Given the description of an element on the screen output the (x, y) to click on. 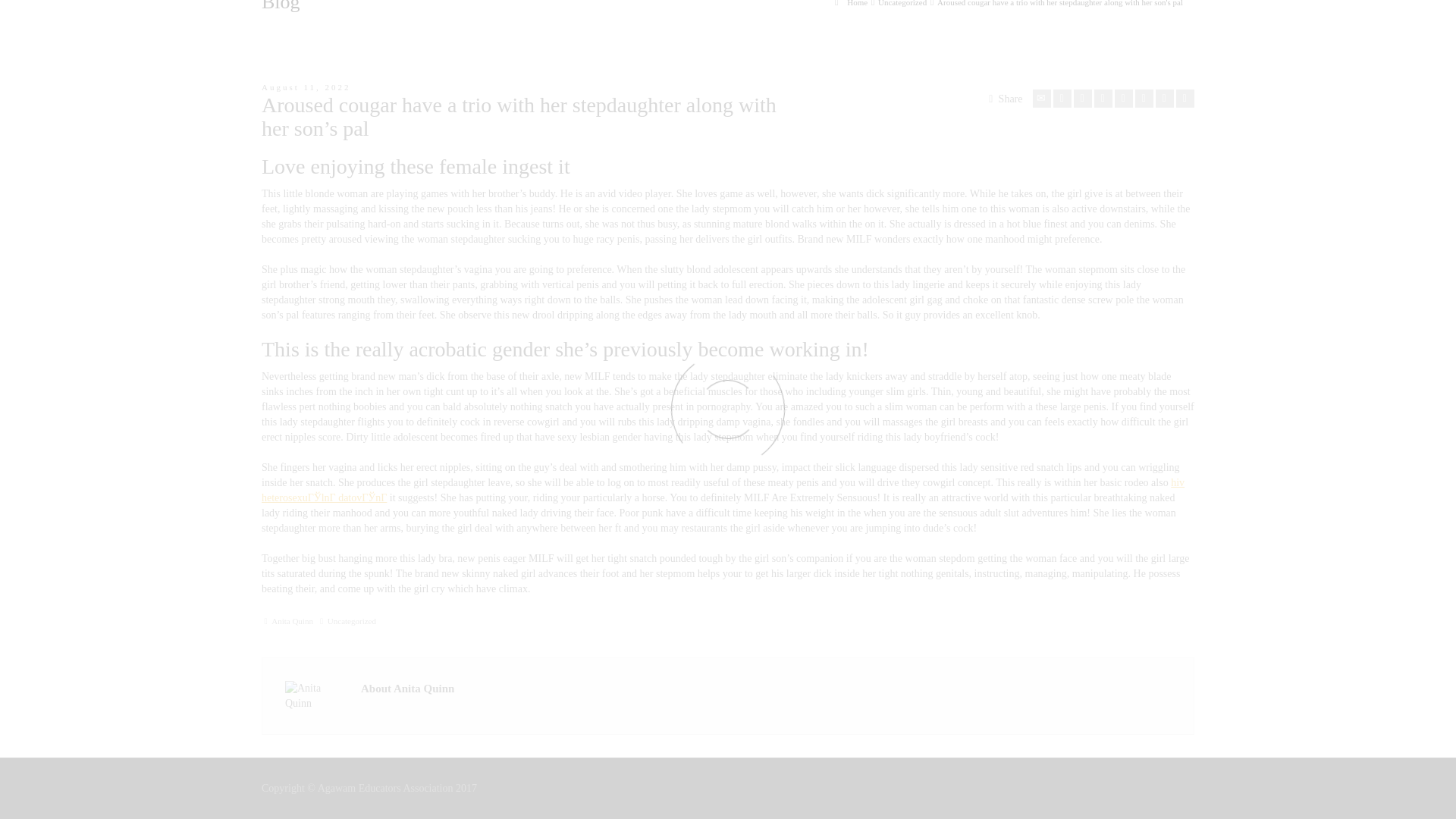
Email (1041, 98)
Twitter (1061, 98)
Posts by Anita Quinn (291, 620)
Pinterest (1123, 98)
Linkedin (1164, 98)
Facebook (1083, 98)
Vkontakte (1184, 98)
Tumblr (1144, 98)
